Given the description of an element on the screen output the (x, y) to click on. 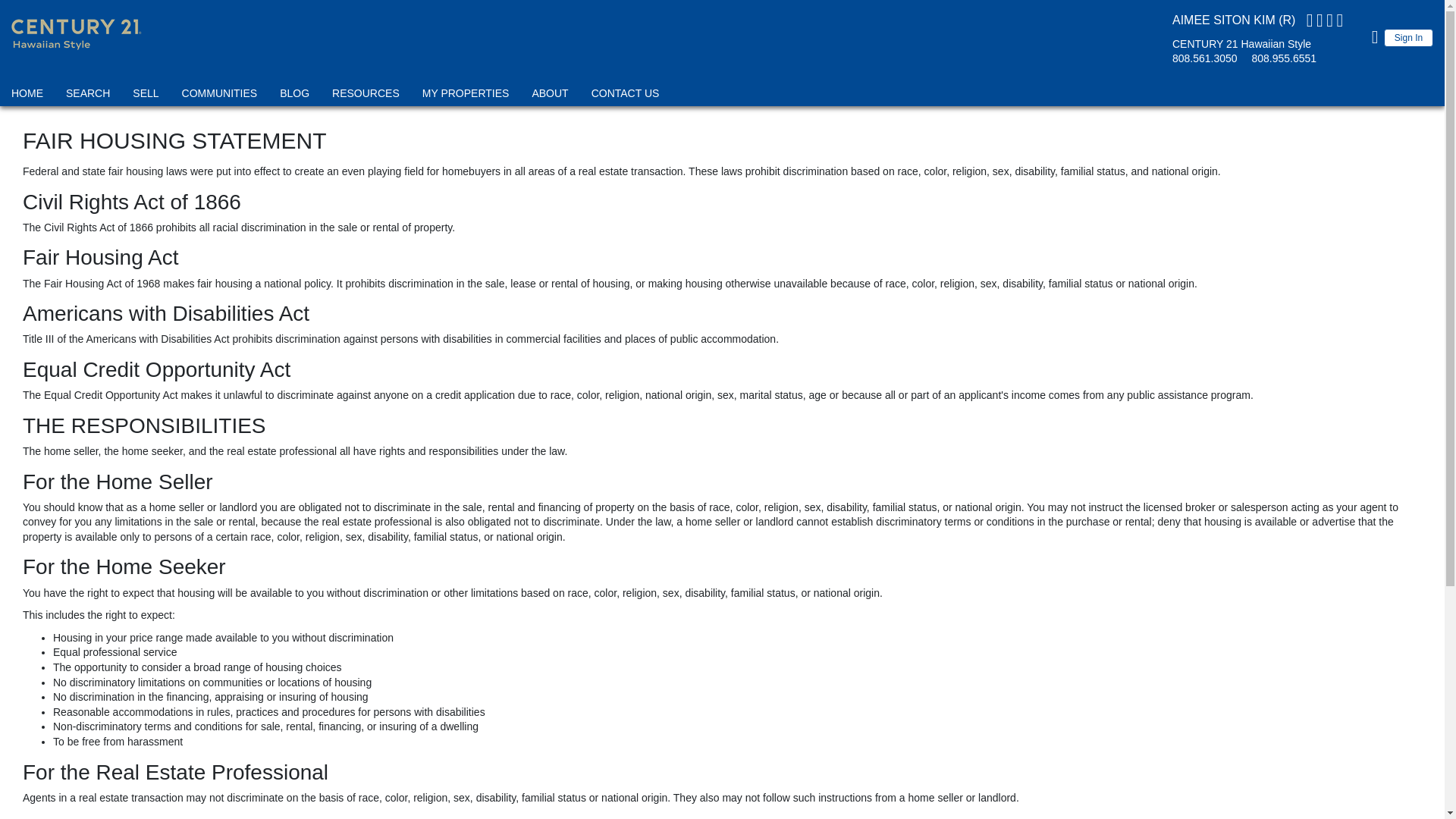
ABOUT (549, 95)
808.955.6551 (1284, 58)
SELL (145, 95)
COMMUNITIES (219, 95)
Sign In (1408, 37)
SEARCH (87, 95)
MY PROPERTIES (466, 95)
BLOG (294, 95)
HOME (26, 95)
RESOURCES (366, 95)
CONTACT US (625, 95)
808.561.3050 (1204, 58)
